Given the description of an element on the screen output the (x, y) to click on. 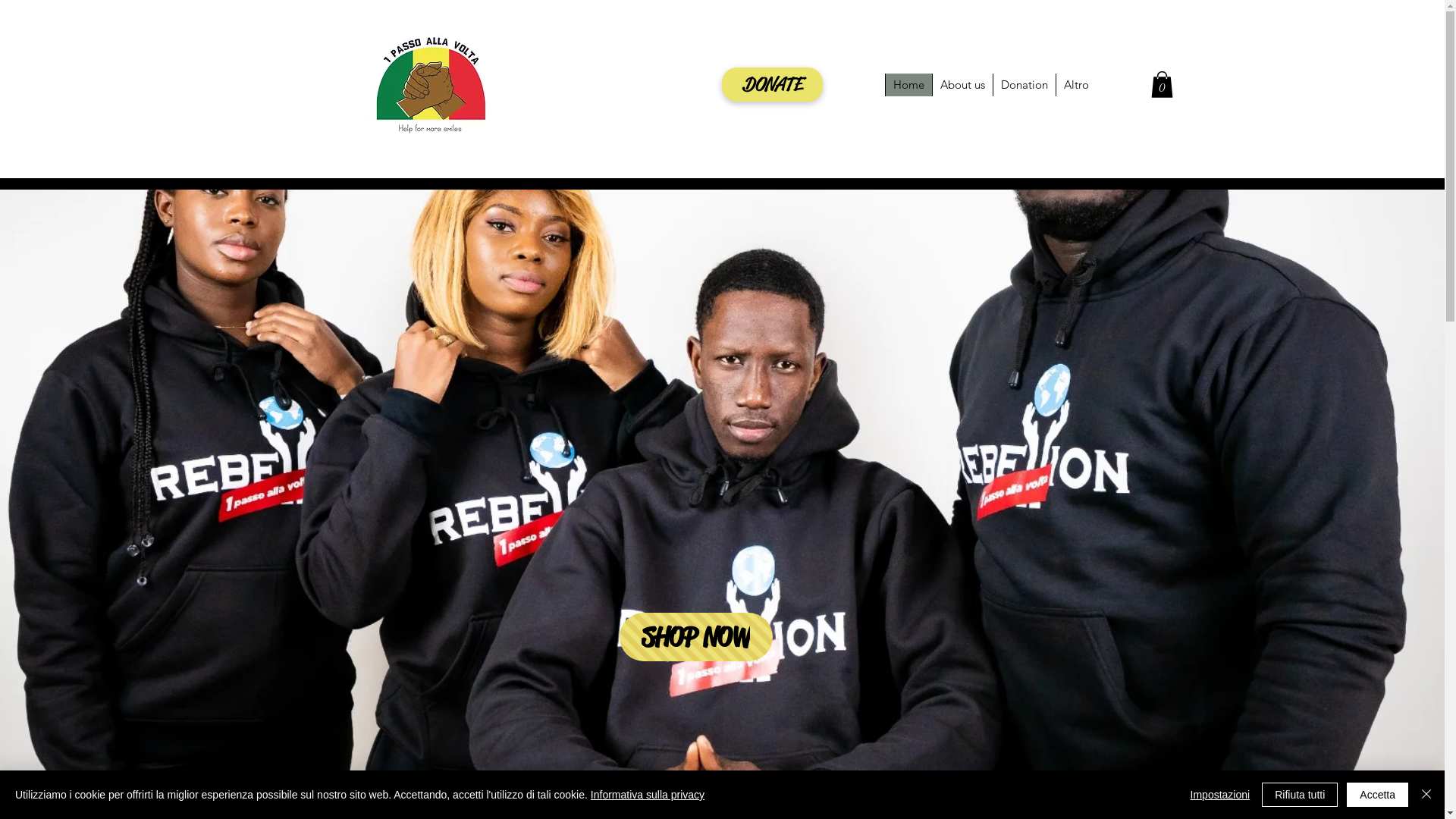
Rifiuta tutti Element type: text (1299, 794)
SHOP NOW Element type: text (694, 636)
About us Element type: text (961, 84)
Informativa sulla privacy Element type: text (647, 794)
DONATE Element type: text (771, 84)
Donation Element type: text (1023, 84)
Accetta Element type: text (1377, 794)
Home Element type: text (907, 84)
0 Element type: text (1162, 84)
